Given the description of an element on the screen output the (x, y) to click on. 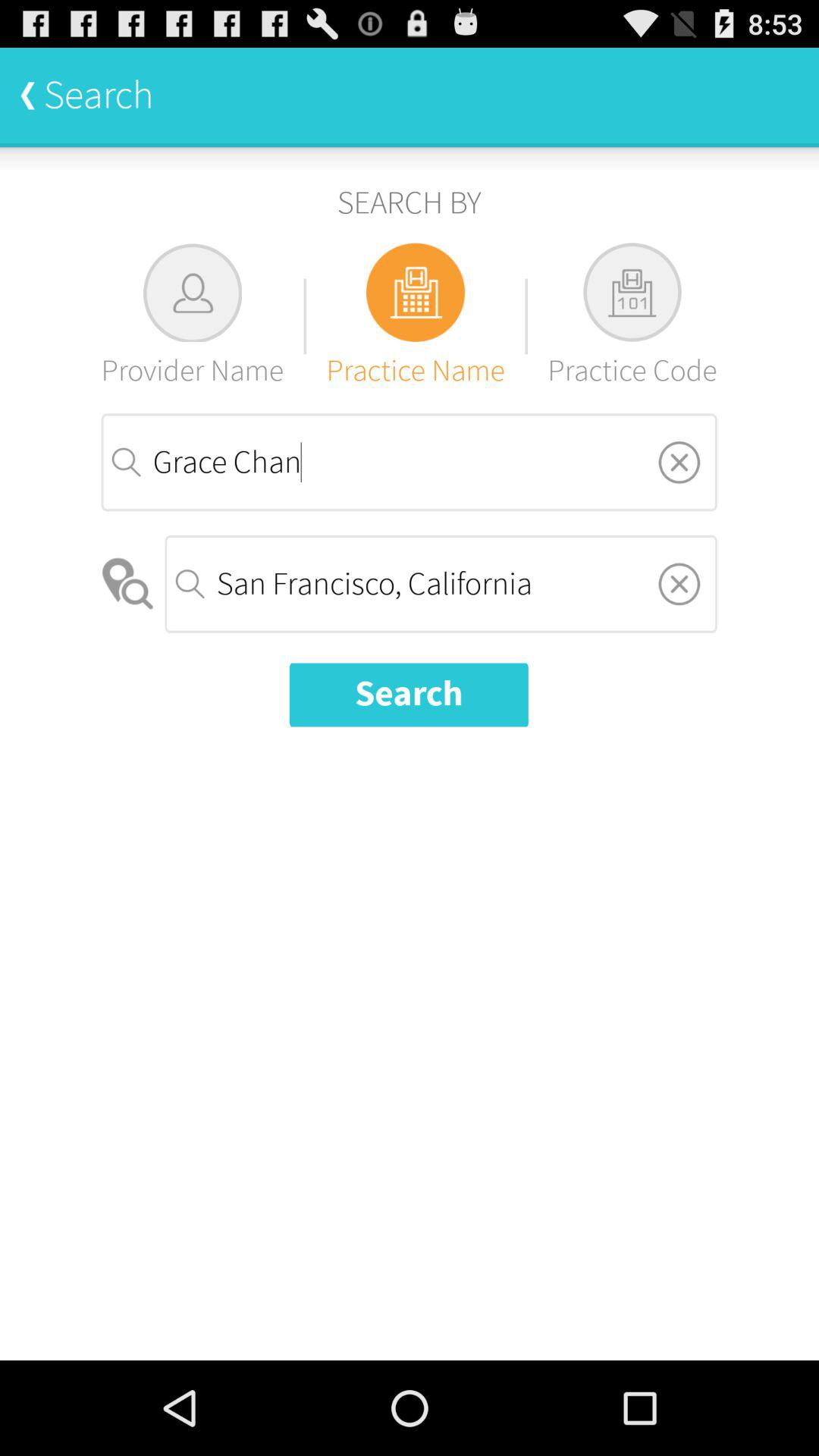
close text box (679, 583)
